Given the description of an element on the screen output the (x, y) to click on. 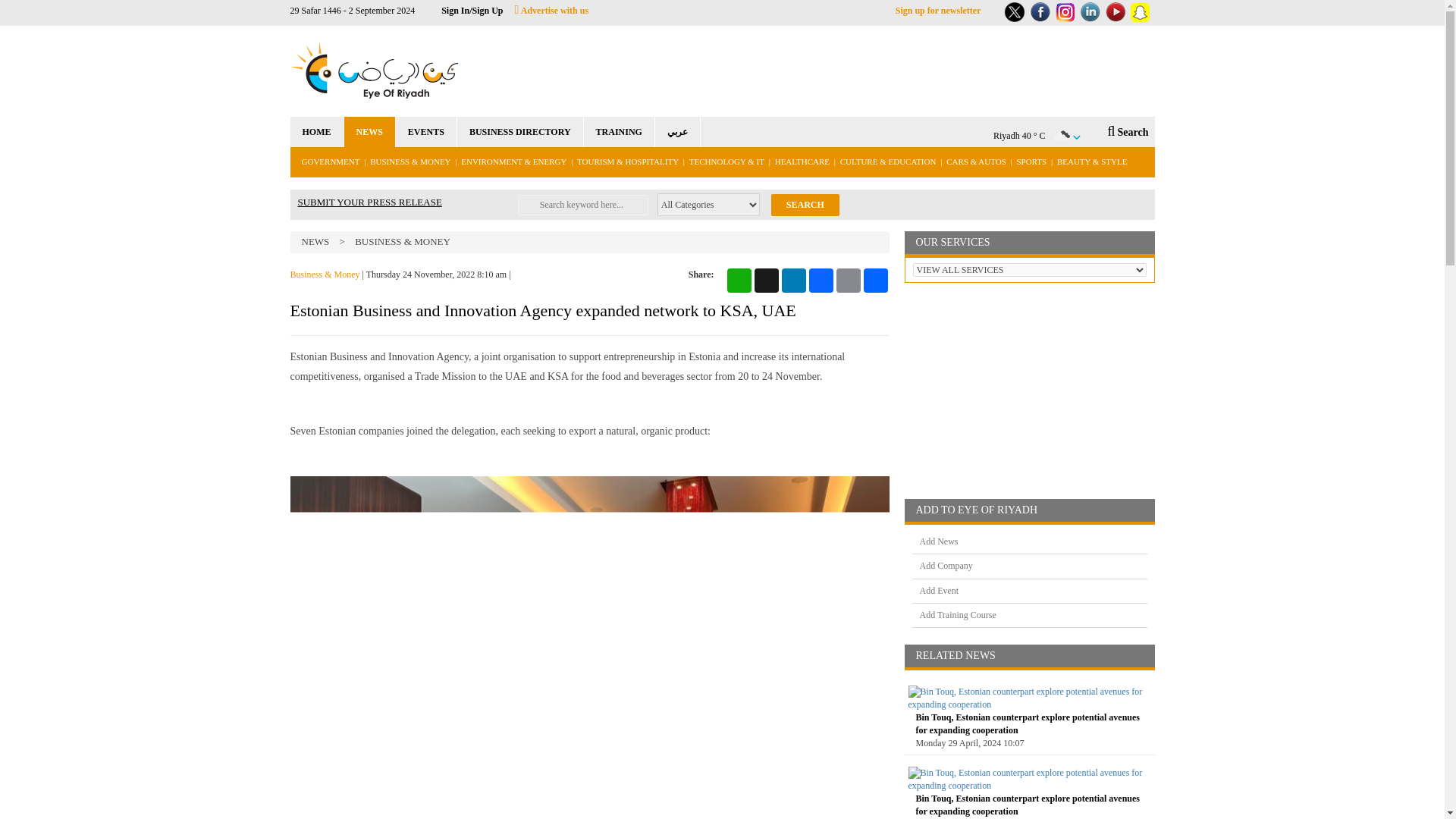
Youtube (1115, 12)
Search for: (582, 204)
GOVERNMENT (329, 161)
broken clouds (1061, 135)
BUSINESS DIRECTORY (520, 131)
Search (805, 205)
Advertise with us (552, 9)
HEALTHCARE (802, 161)
